Given the description of an element on the screen output the (x, y) to click on. 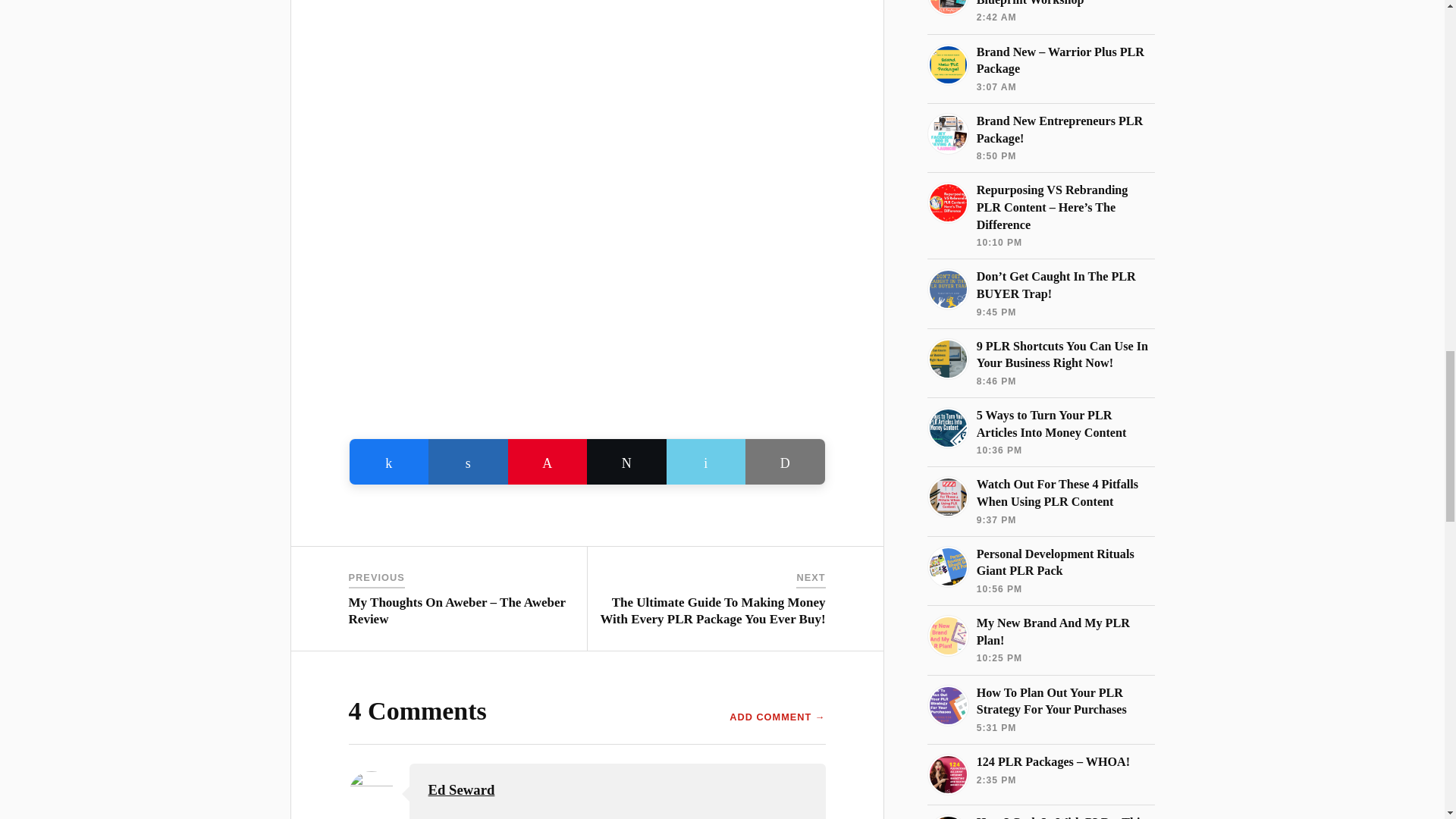
YouTube video player (587, 276)
YouTube video player (587, 58)
Ed Seward (461, 789)
